Given the description of an element on the screen output the (x, y) to click on. 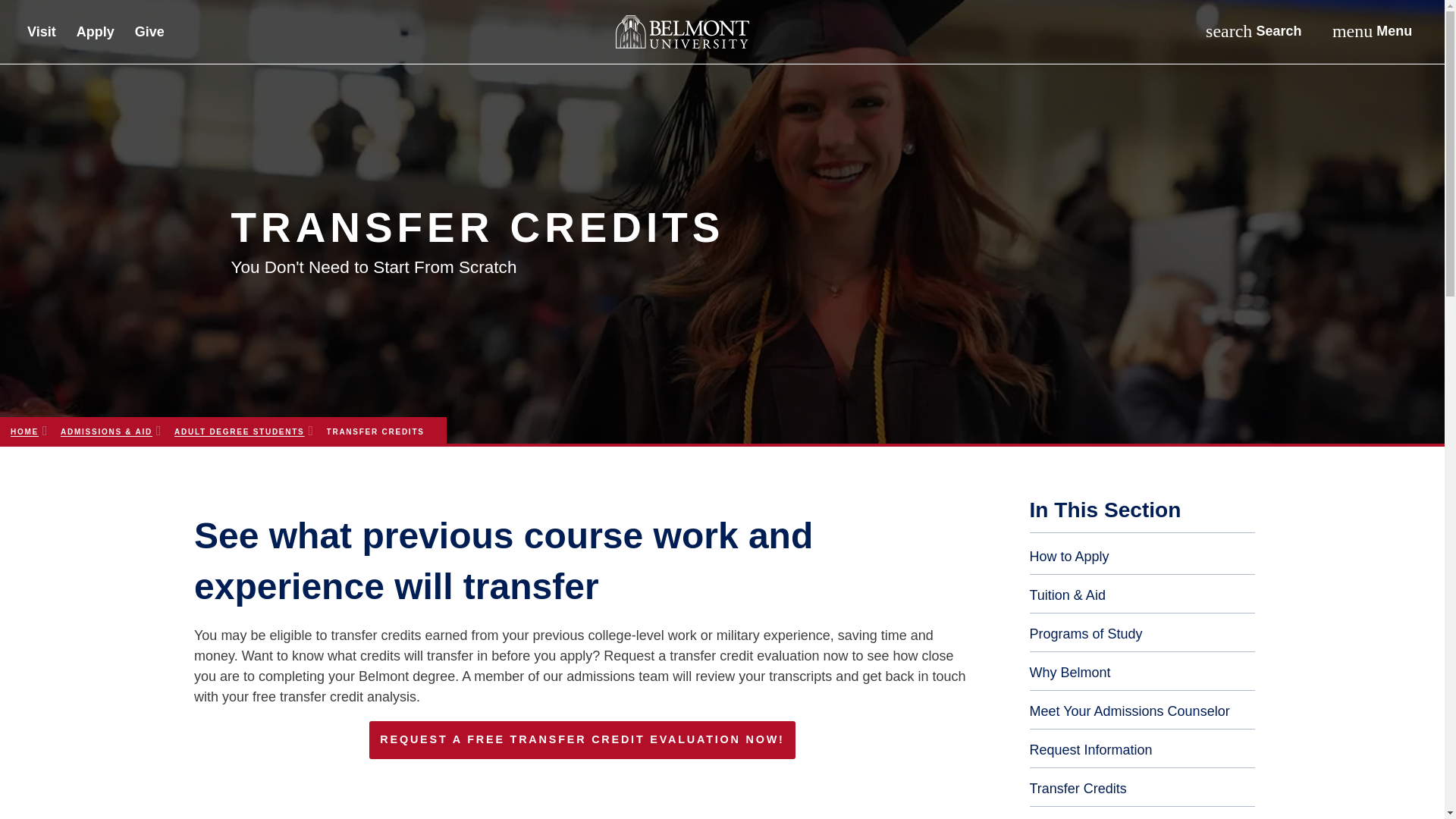
Transfer Credit Evaluation (581, 740)
Give (149, 34)
Visit (1371, 31)
Apply (1252, 31)
